Given the description of an element on the screen output the (x, y) to click on. 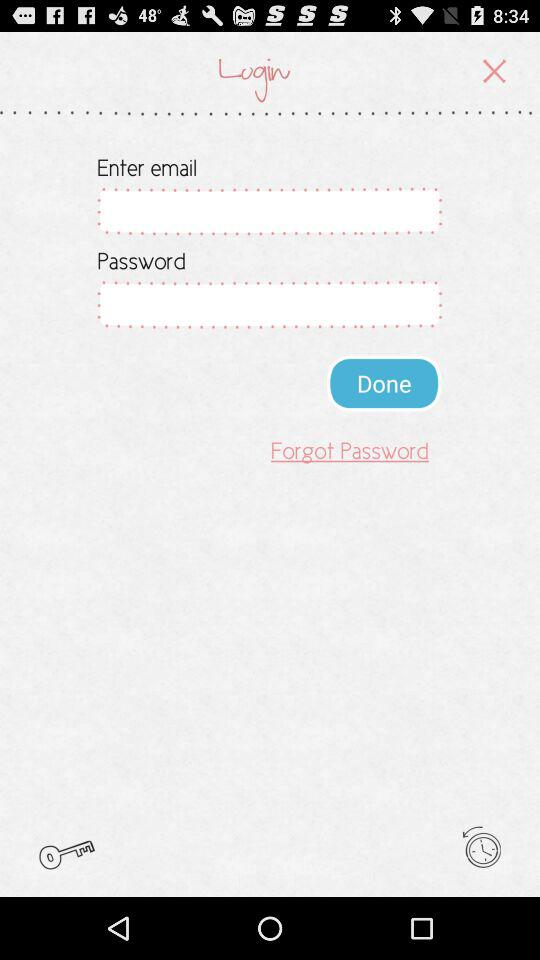
tap the forgot password item (350, 450)
